Given the description of an element on the screen output the (x, y) to click on. 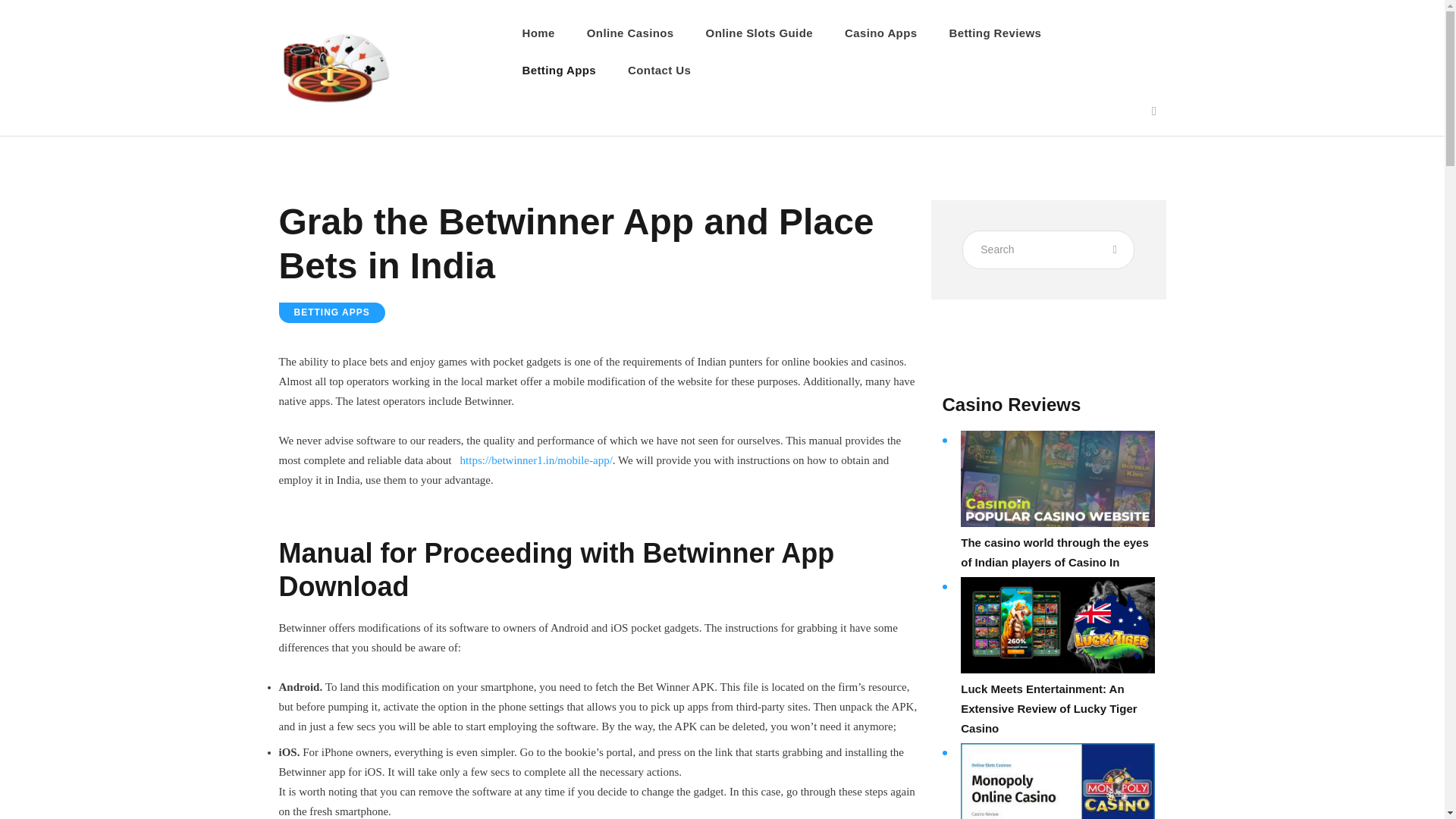
Betting Apps (559, 70)
Betting Reviews (995, 33)
Casino Apps (880, 33)
Home (538, 33)
Online Slots Guide (759, 33)
Online Casinos (630, 33)
